Given the description of an element on the screen output the (x, y) to click on. 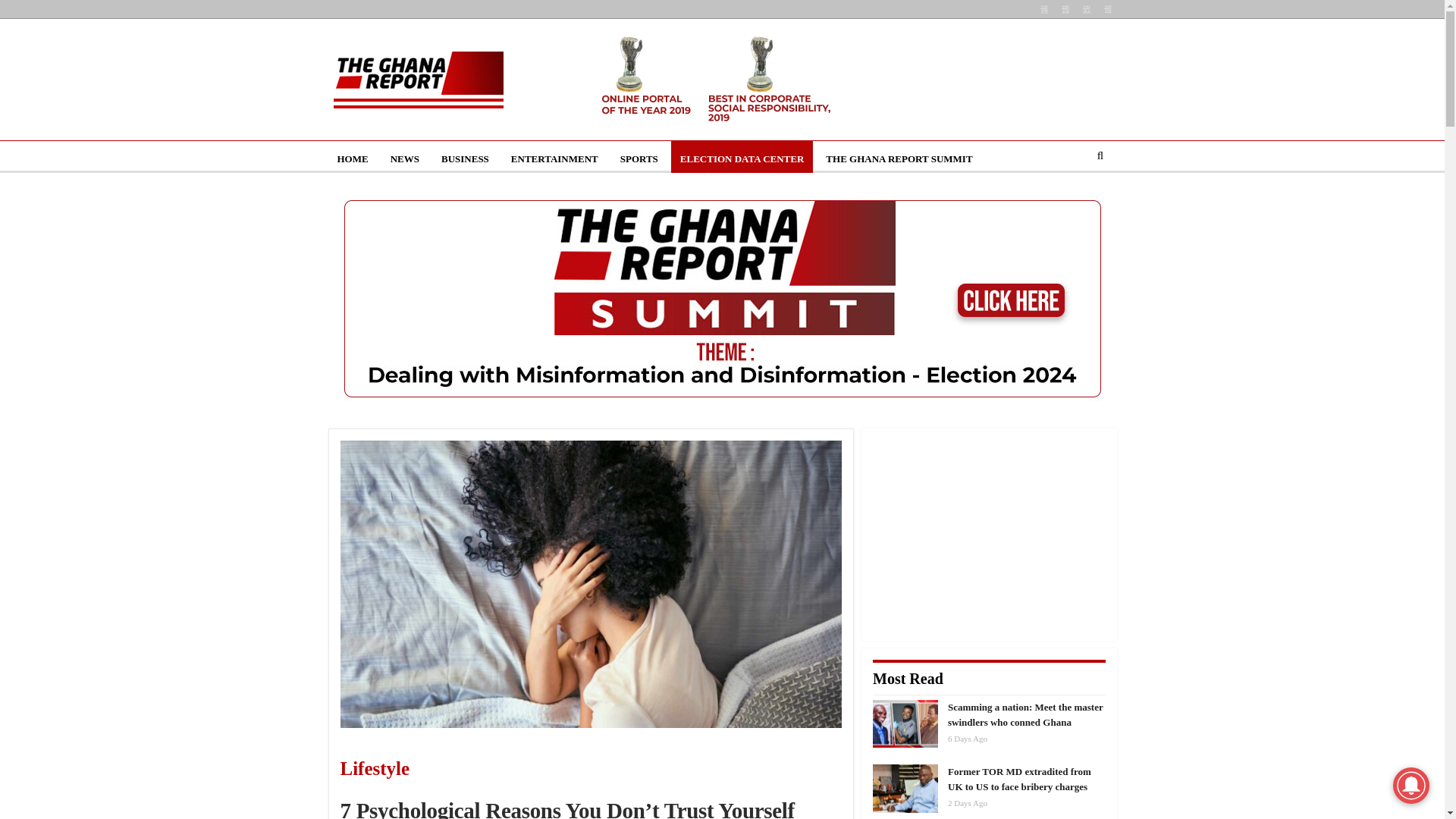
HOME (352, 158)
THE GHANA REPORT SUMMIT (898, 158)
SPORTS (638, 158)
Lifestyle (453, 768)
ENTERTAINMENT (554, 158)
BUSINESS (464, 158)
NEWS (404, 158)
Advertisement (988, 534)
ELECTION DATA CENTER (742, 158)
